Given the description of an element on the screen output the (x, y) to click on. 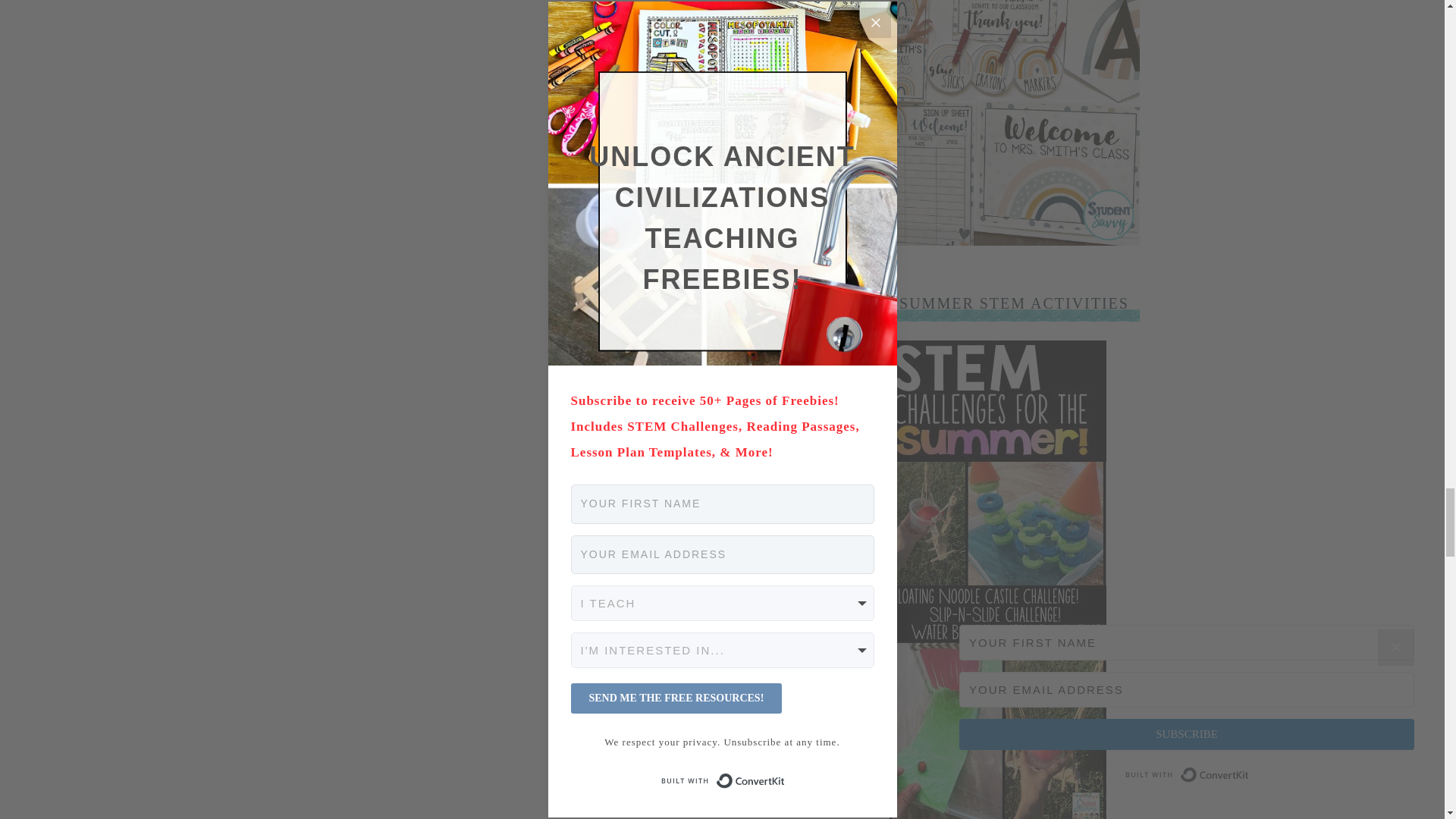
Summer STEM Activities (996, 816)
